Given the description of an element on the screen output the (x, y) to click on. 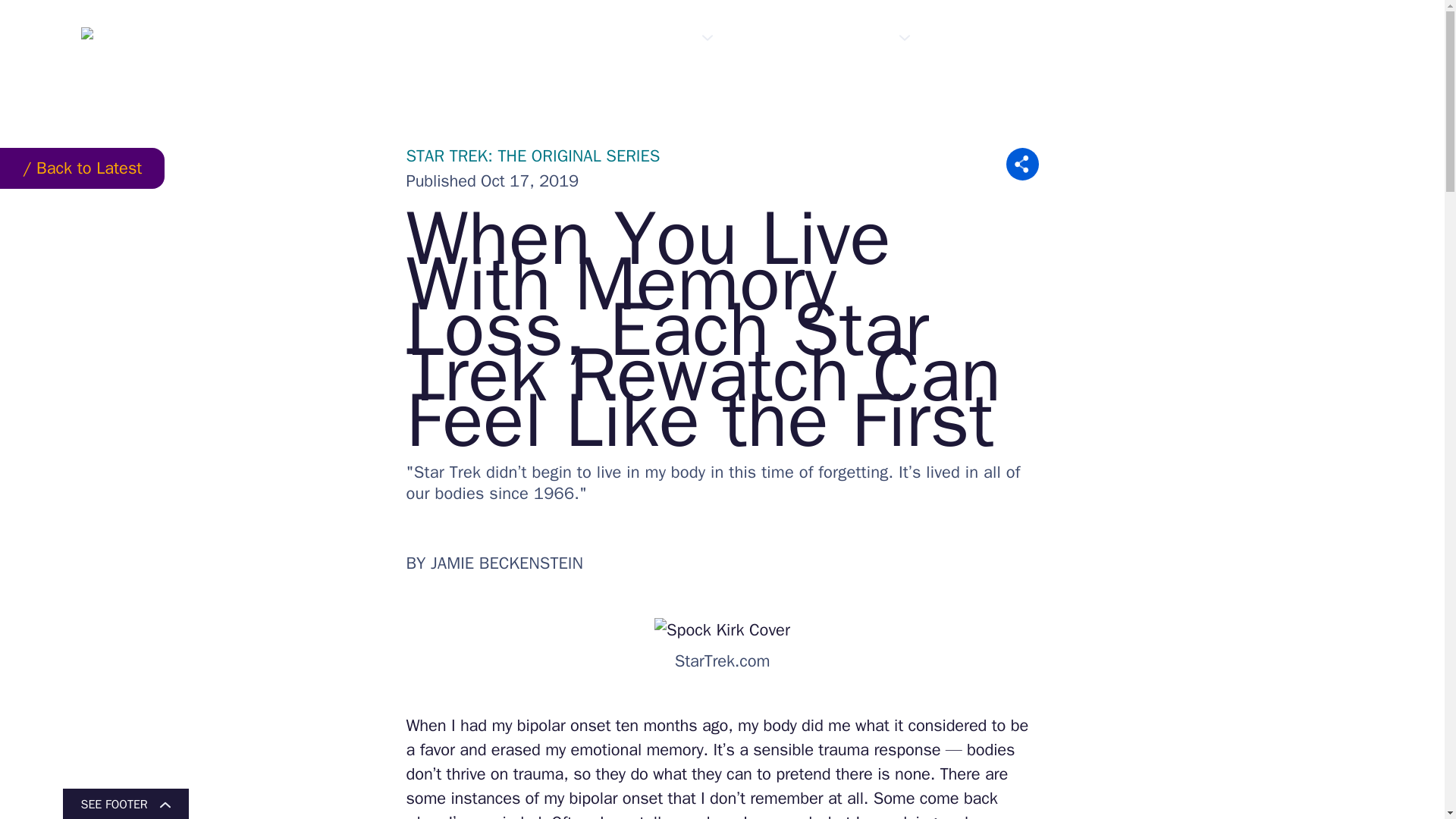
LATEST (481, 37)
STAR TREK: THE ORIGINAL SERIES (533, 156)
SEE FOOTER (124, 803)
SHOP (968, 37)
